Given the description of an element on the screen output the (x, y) to click on. 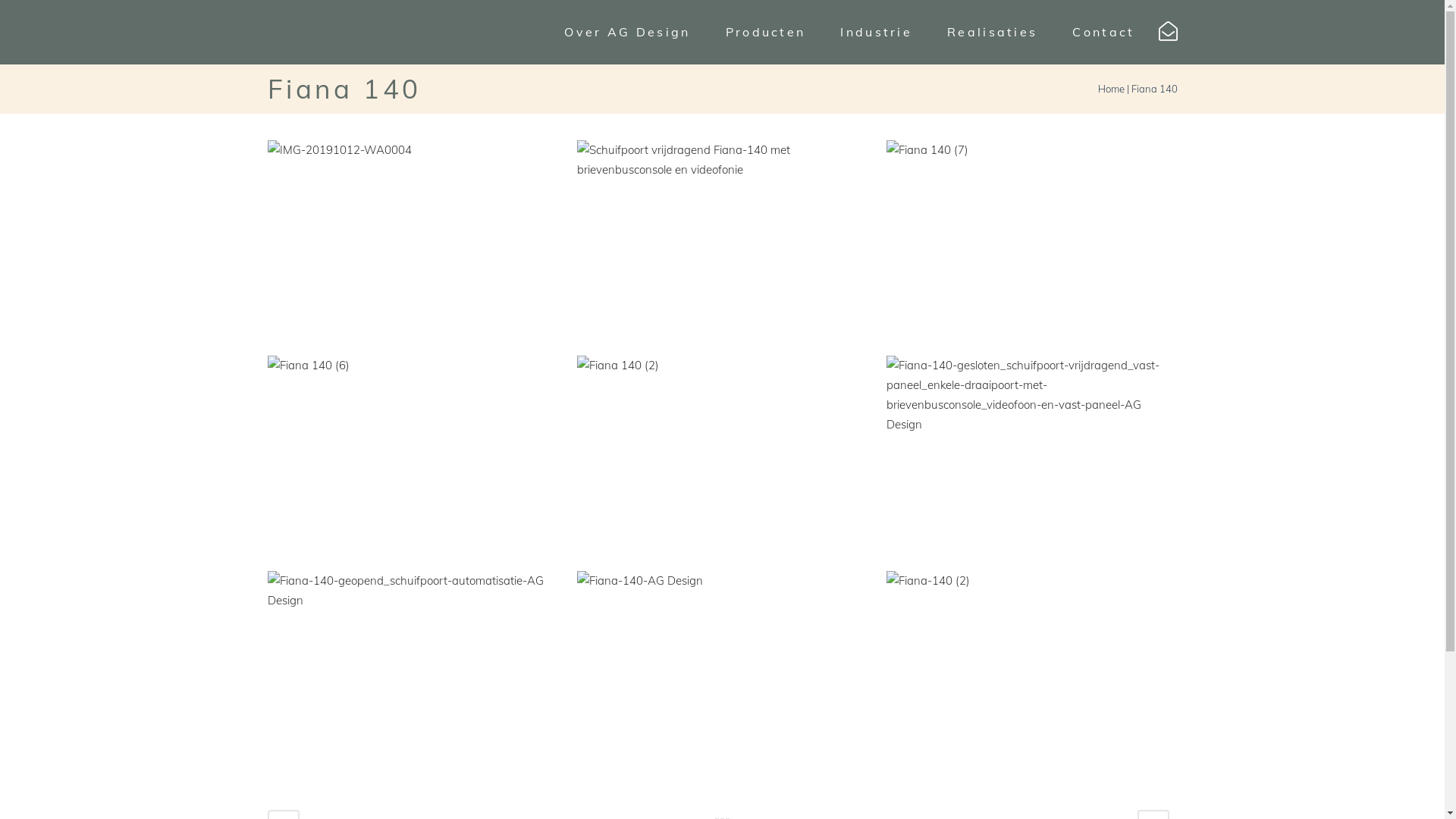
Fiana 140 (2) Element type: hover (723, 454)
Fiana-140 (2) Element type: hover (1032, 658)
Fiana-140-AG Design Element type: hover (723, 669)
Producten Element type: text (765, 32)
Realisaties Element type: text (991, 32)
Over AG Design Element type: text (626, 32)
Contact Element type: text (1102, 32)
Fiana 140 (6) Element type: hover (412, 454)
Home Element type: text (1111, 88)
Industrie Element type: text (875, 32)
Fiana-140-geopend_schuifpoort-automatisatie-AG Design Element type: hover (412, 671)
Fiana 140 (7) Element type: hover (1032, 239)
IMG-20191012-WA0004 Element type: hover (412, 239)
